Given the description of an element on the screen output the (x, y) to click on. 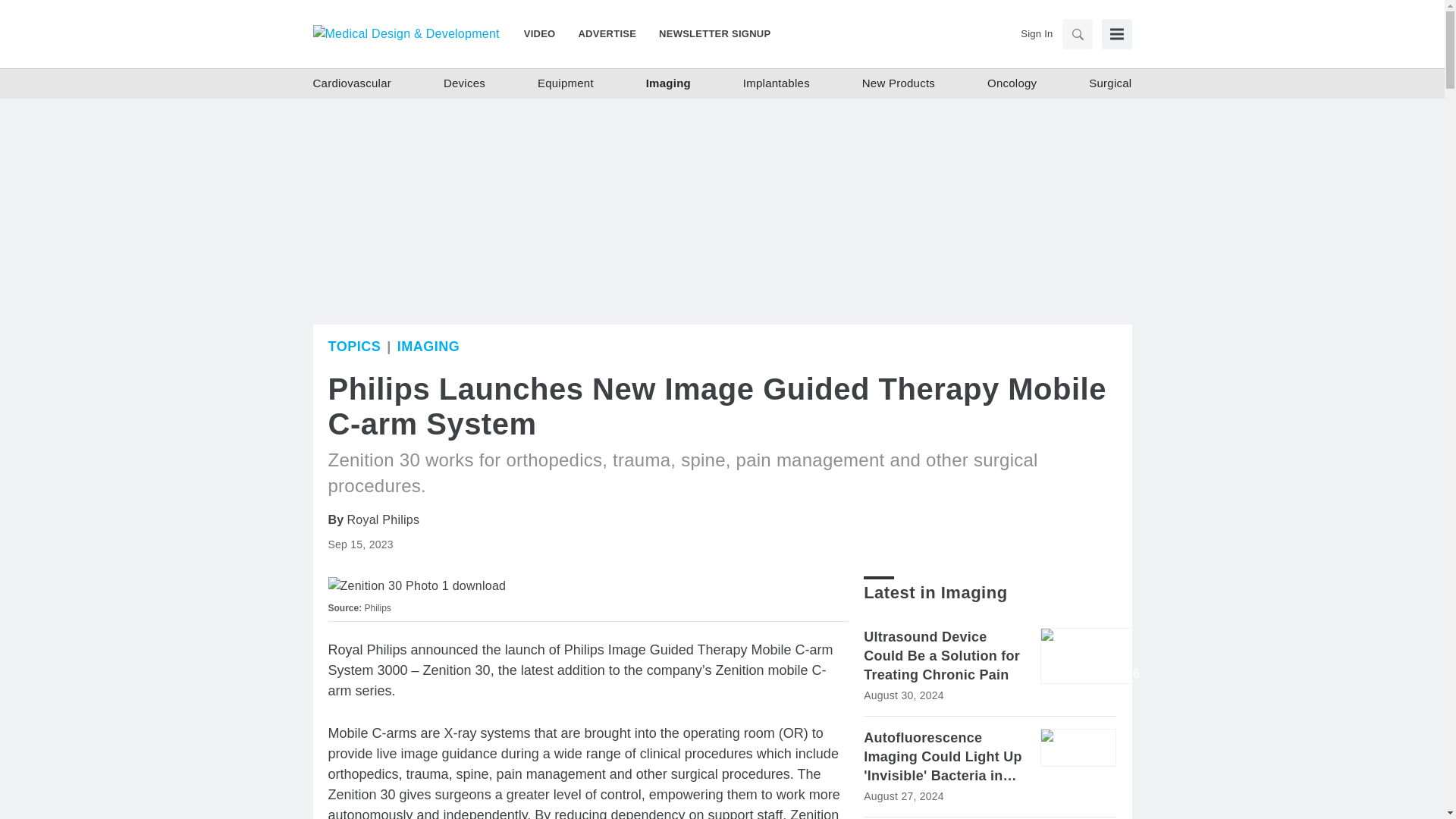
Implantables (775, 83)
Cardiovascular (352, 83)
Equipment (565, 83)
Devices (464, 83)
Surgical (1110, 83)
Imaging (428, 346)
Sign In (1036, 33)
Imaging (668, 83)
New Products (897, 83)
VIDEO (545, 33)
